Given the description of an element on the screen output the (x, y) to click on. 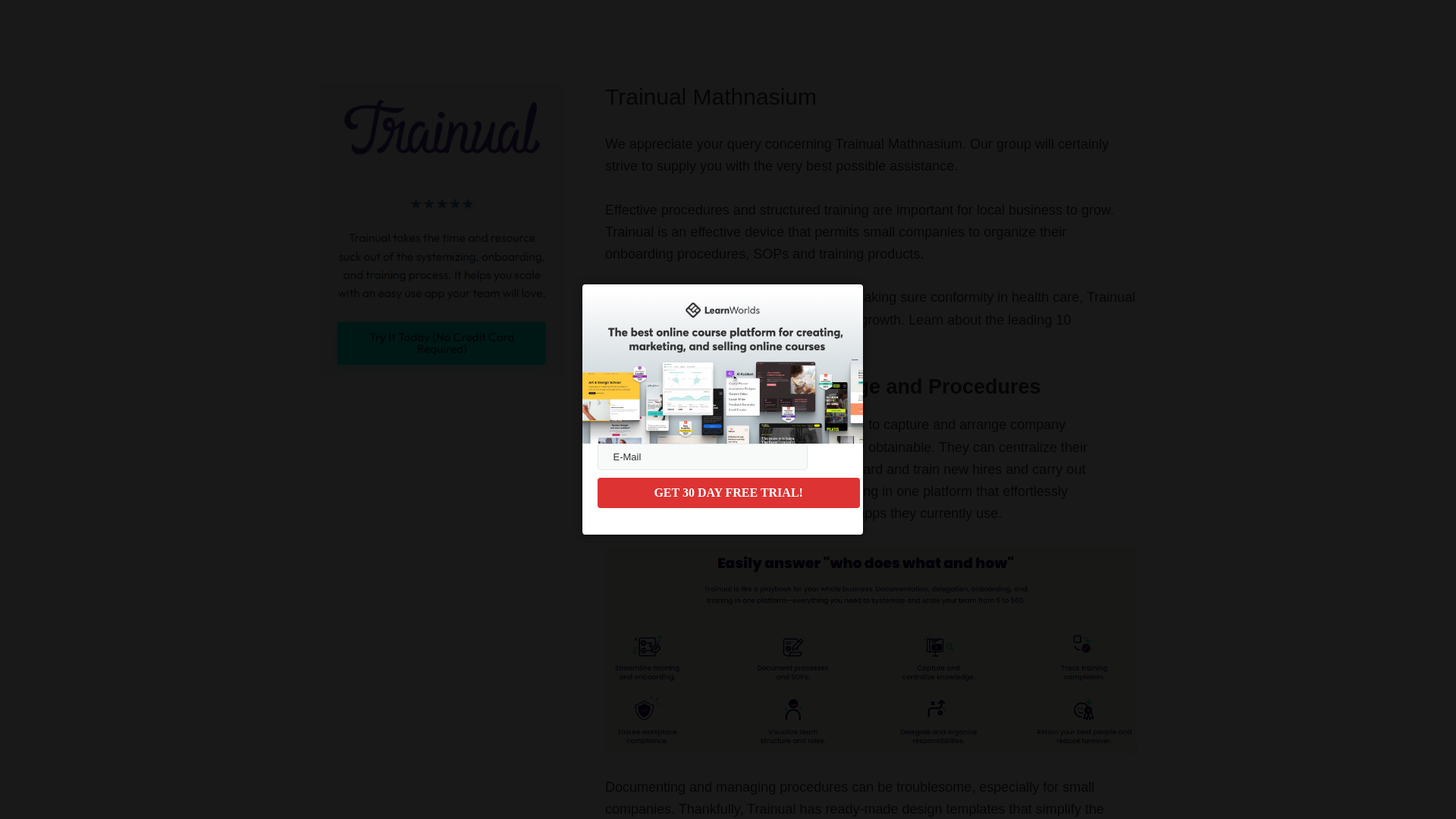
GET 30 DAY FREE TRIAL! (728, 492)
GET 30 DAY FREE TRIAL! (728, 492)
